Given the description of an element on the screen output the (x, y) to click on. 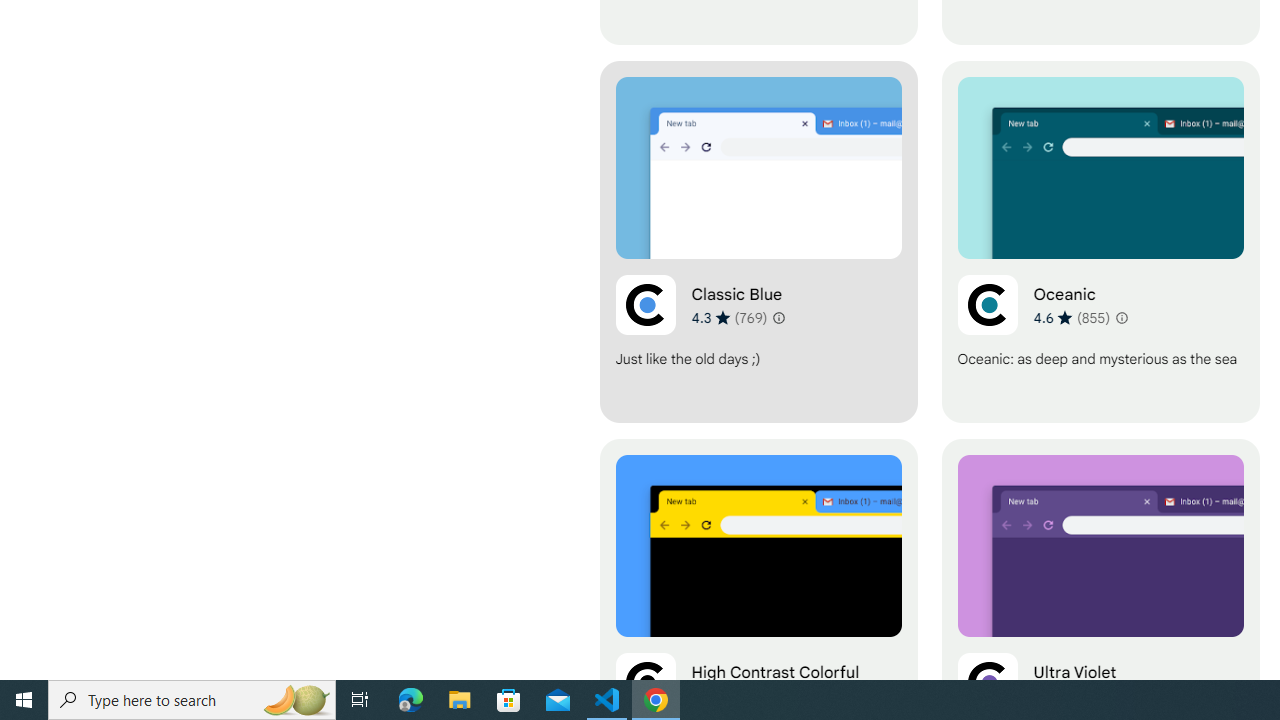
Classic Blue (758, 242)
Average rating 4.3 out of 5 stars. 769 ratings. (729, 317)
Learn more about results and reviews "Classic Blue" (778, 317)
Learn more about results and reviews "Oceanic" (1120, 317)
Average rating 4.6 out of 5 stars. 855 ratings. (1071, 317)
Oceanic (1099, 242)
